Given the description of an element on the screen output the (x, y) to click on. 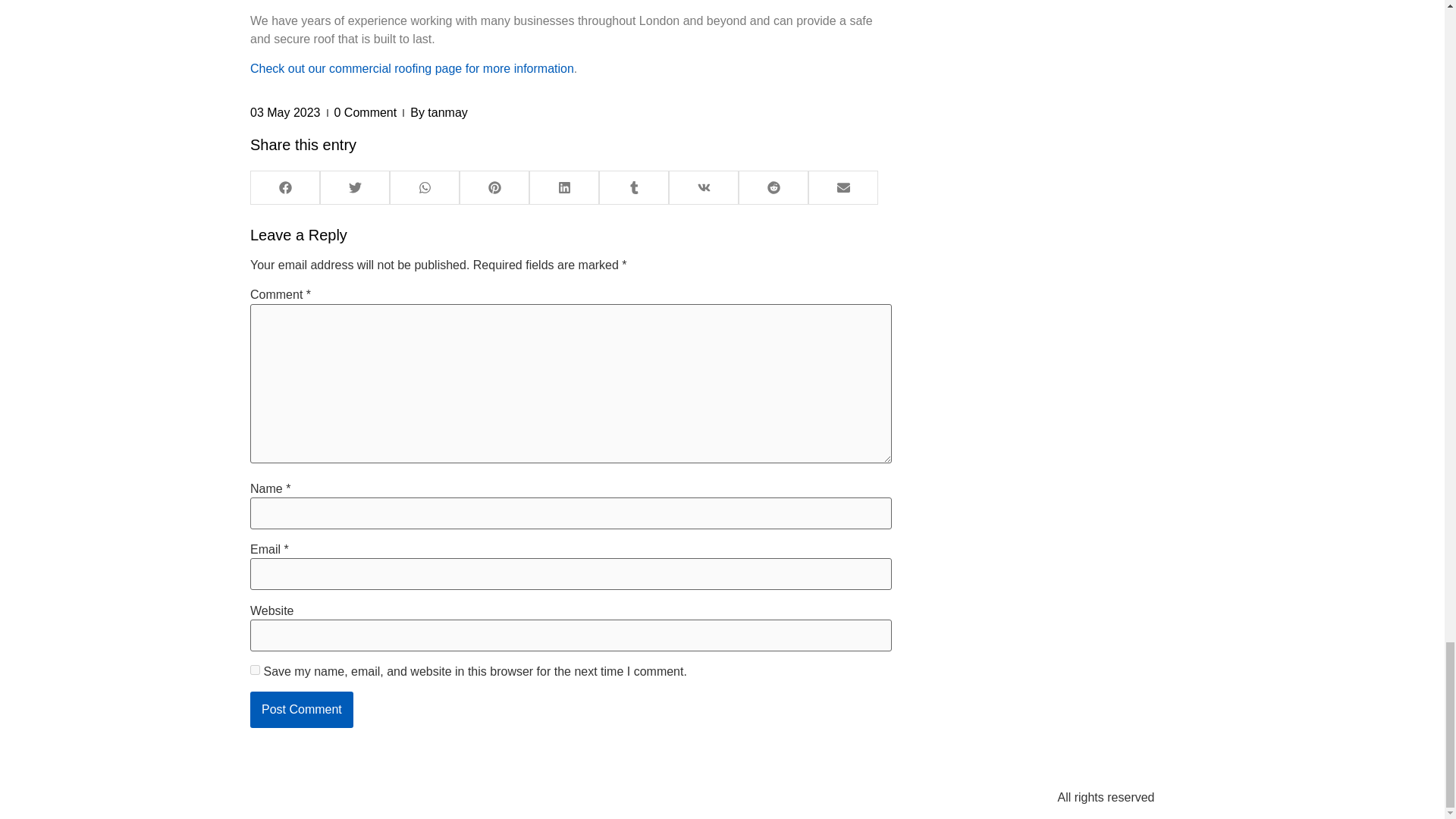
Post Comment (301, 709)
yes (255, 669)
